Given the description of an element on the screen output the (x, y) to click on. 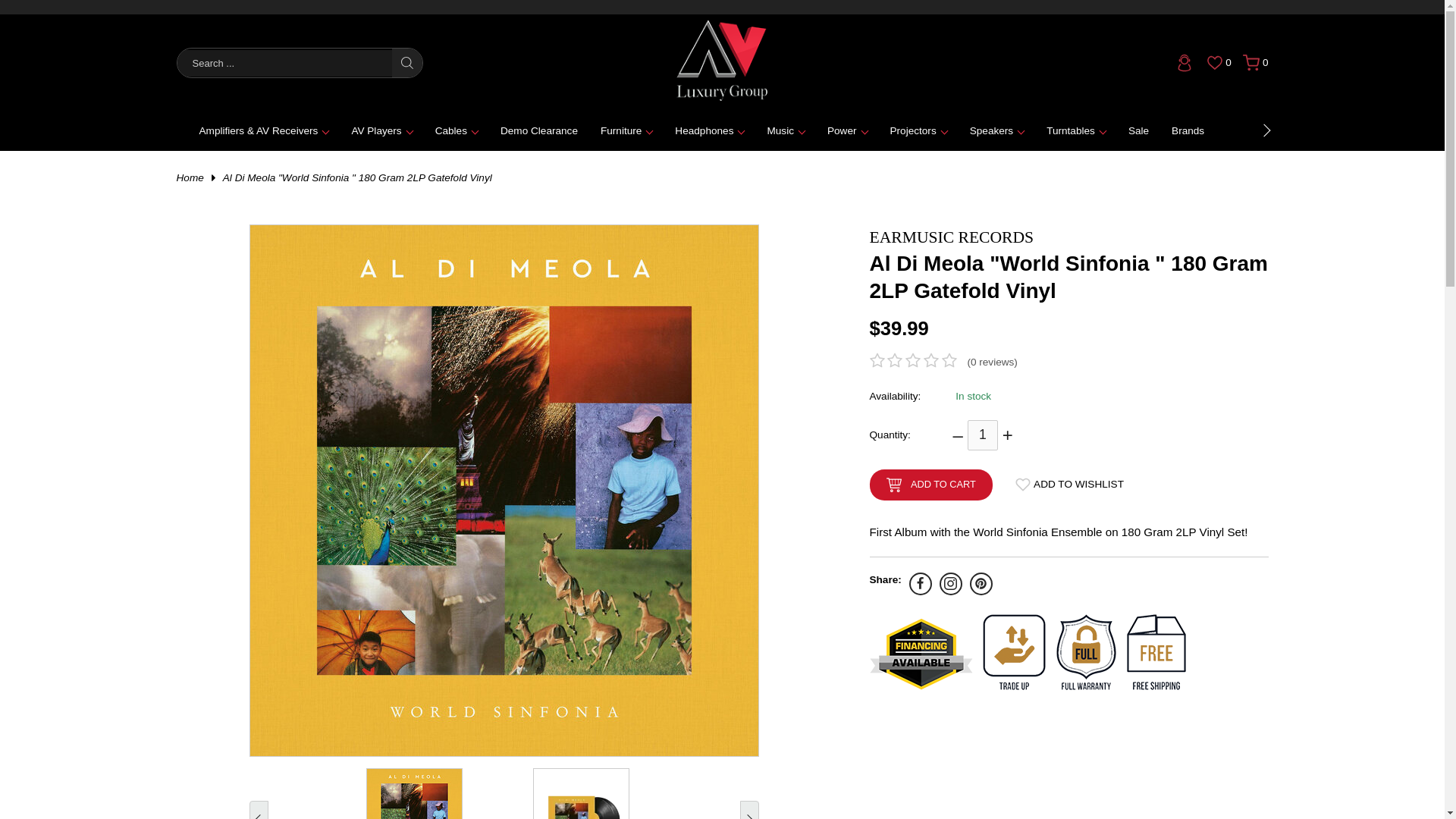
Projectors (918, 130)
Furniture (625, 130)
AV Players (381, 130)
1 (982, 435)
Brands (1188, 130)
Sale (1138, 130)
Cables (456, 130)
0 (1255, 62)
Power (847, 130)
Search (406, 62)
